Given the description of an element on the screen output the (x, y) to click on. 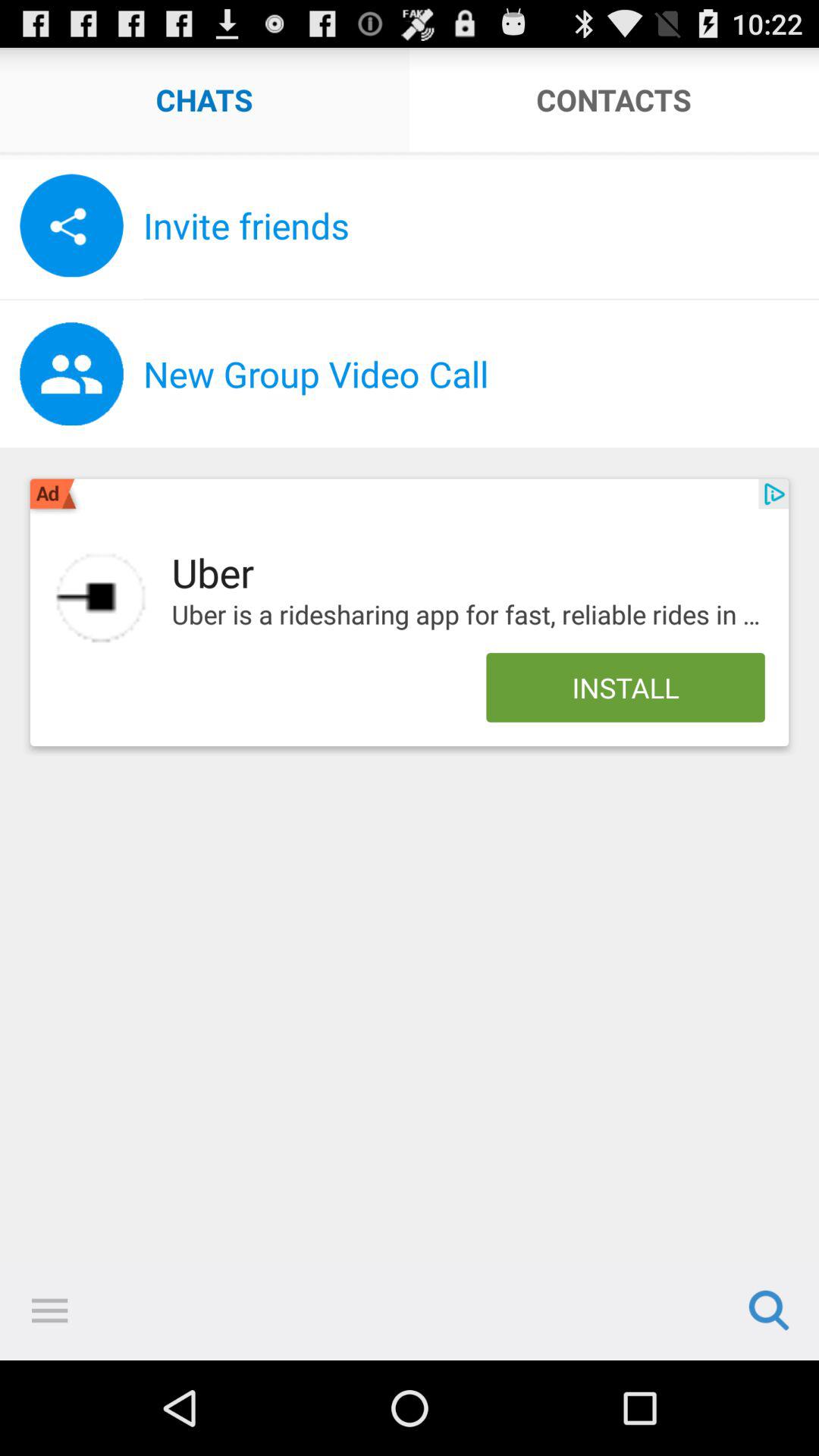
go to main page of app (100, 597)
